Given the description of an element on the screen output the (x, y) to click on. 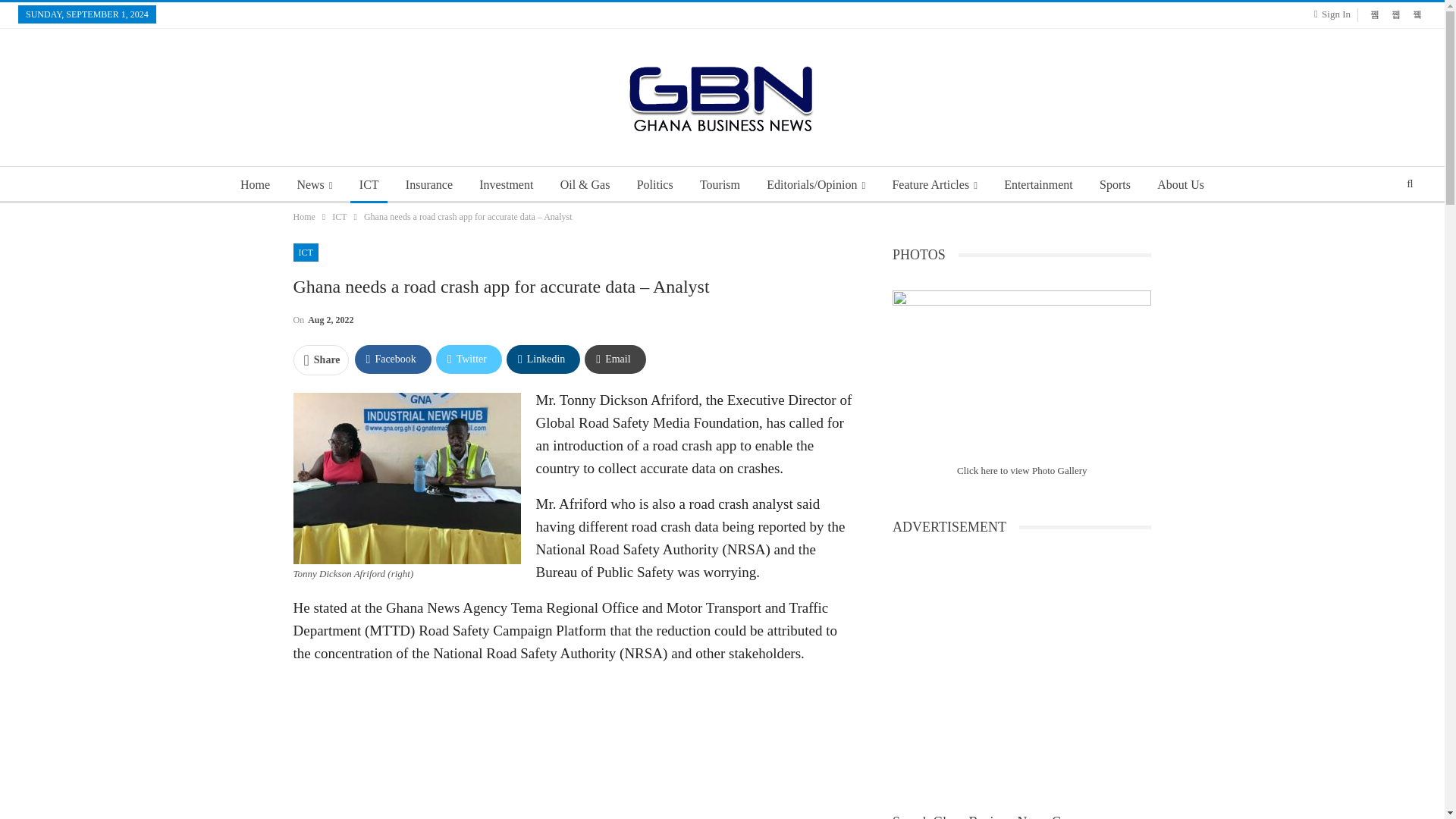
Home (303, 216)
Linkedin (542, 358)
Twitter (468, 358)
Tourism (719, 185)
Insurance (428, 185)
Sports (1115, 185)
Politics (654, 185)
News (313, 185)
About Us (1180, 185)
ICT (304, 252)
